Given the description of an element on the screen output the (x, y) to click on. 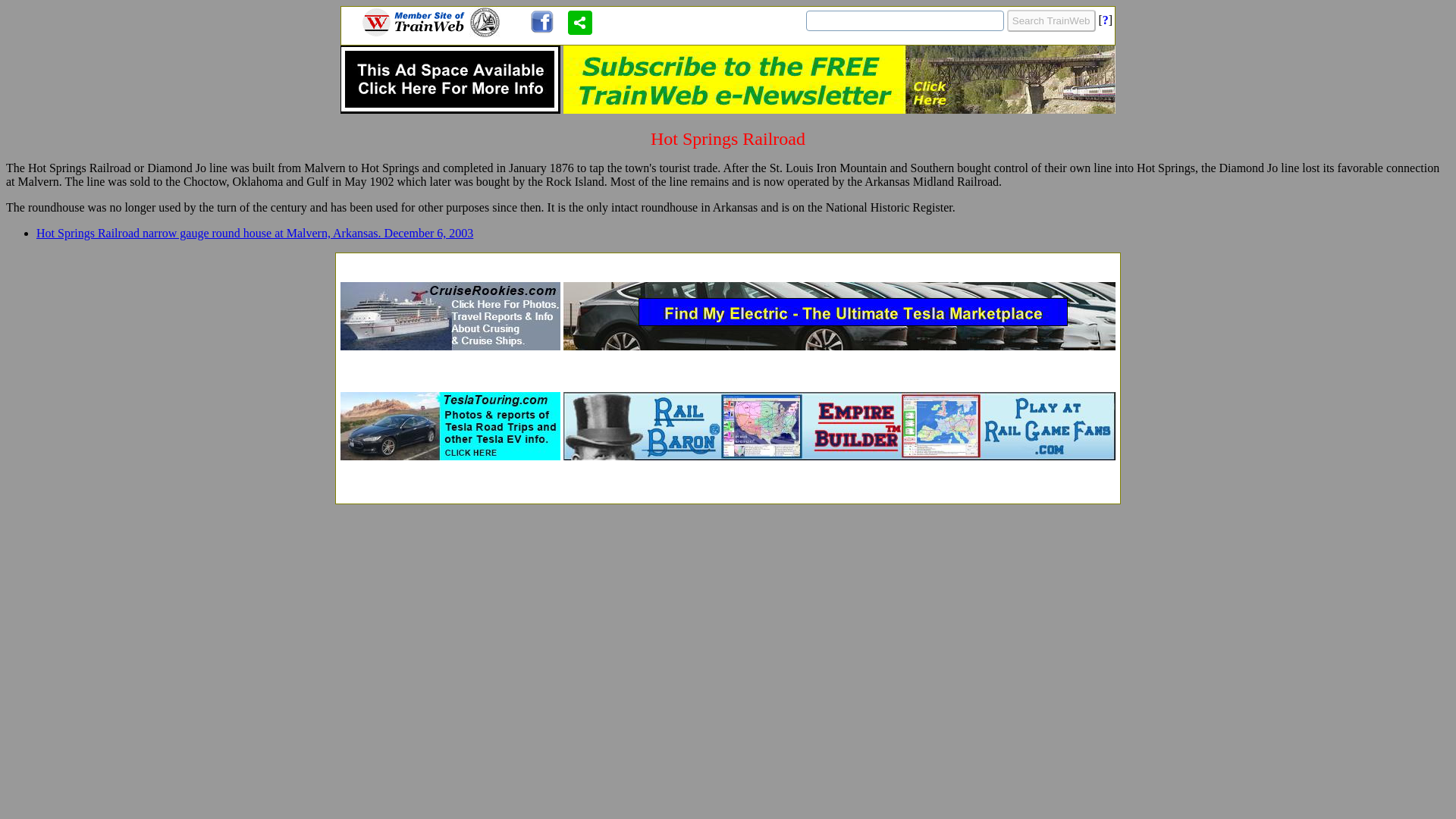
Search TrainWeb (1051, 20)
Advertisement (727, 262)
Advertisement (727, 482)
Advertisement (727, 372)
Search TrainWeb (1051, 20)
? (1105, 19)
